Given the description of an element on the screen output the (x, y) to click on. 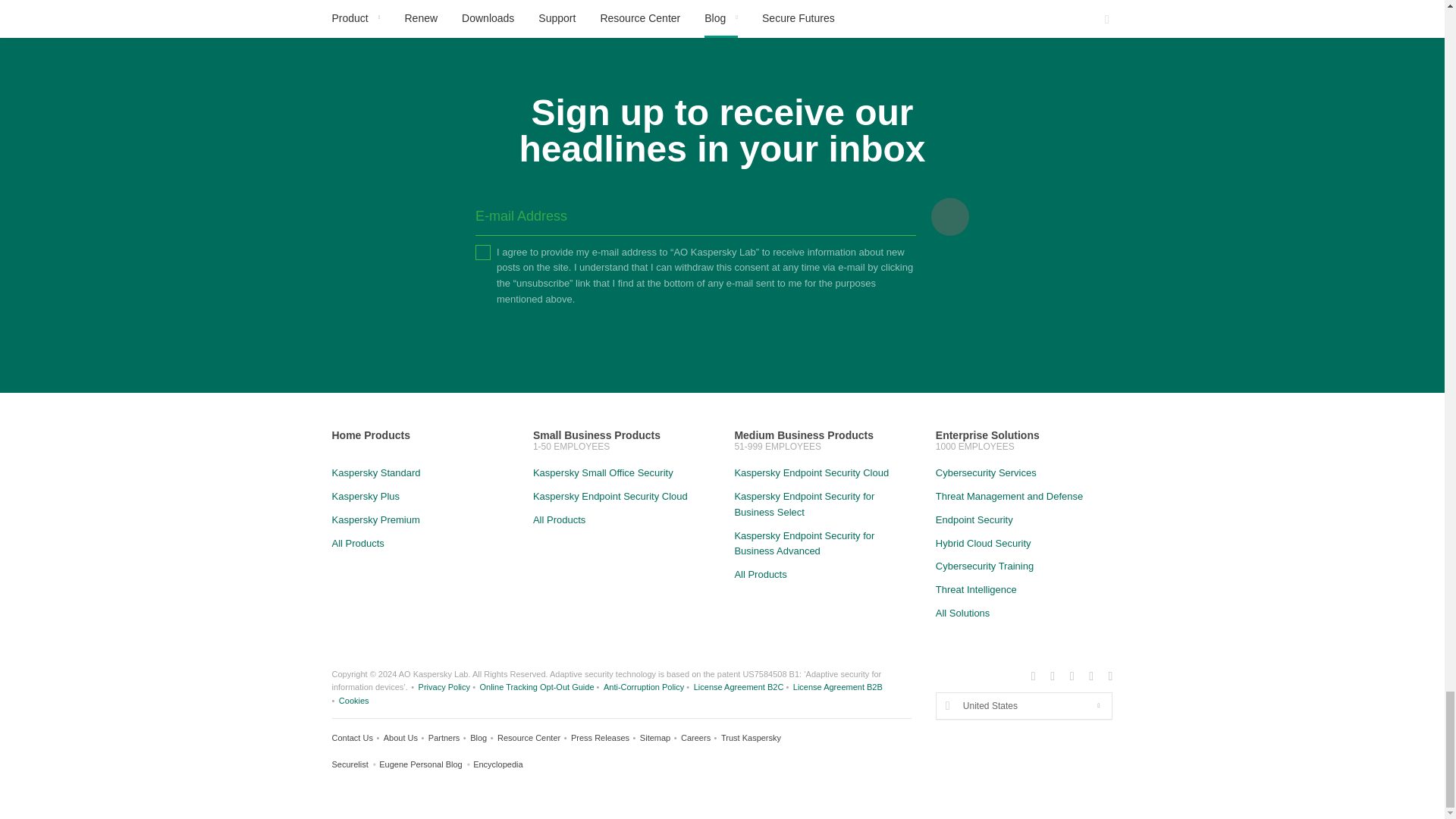
Sign me Up (950, 216)
